Given the description of an element on the screen output the (x, y) to click on. 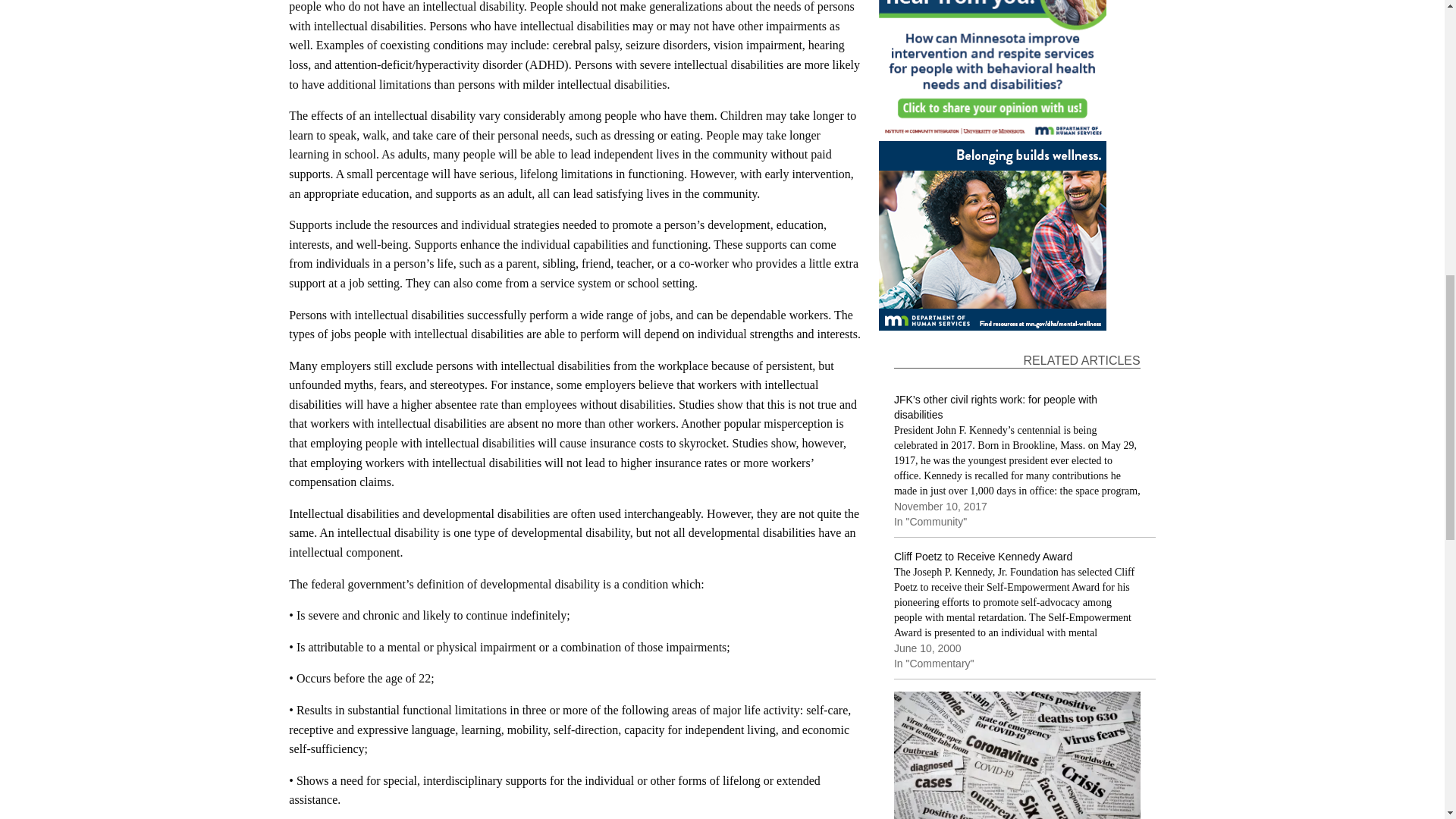
Cliff Poetz to Receive Kennedy Award (1024, 613)
Cliff Poetz to Receive Kennedy Award (982, 556)
MY COVID STORY: CRAIG (1016, 755)
